Given the description of an element on the screen output the (x, y) to click on. 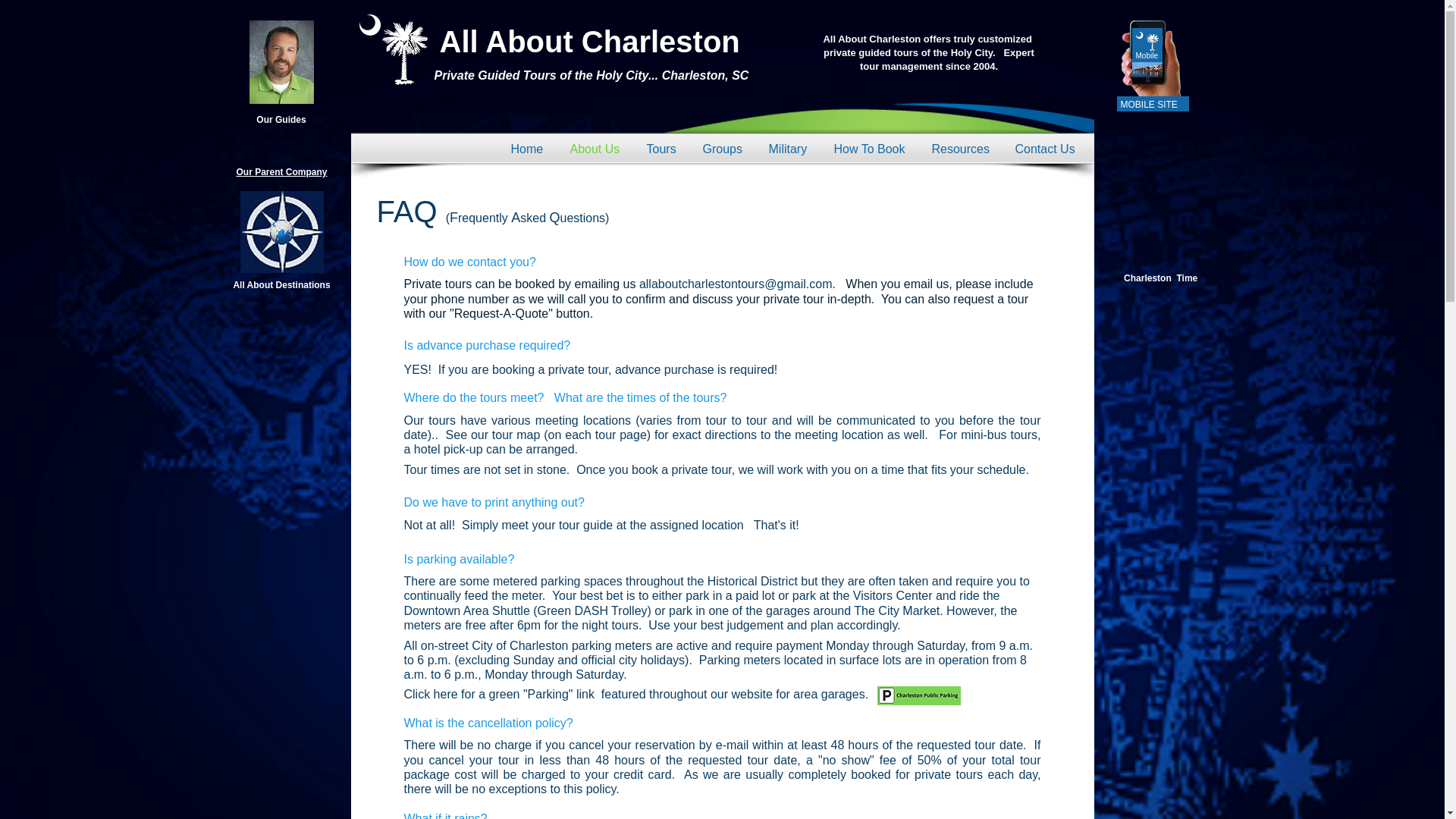
Tours (662, 148)
Home (528, 148)
Groups (724, 148)
Our Guides (280, 119)
All About Destinations (281, 285)
About Us (595, 148)
Resources (962, 148)
Military (789, 148)
How To Book (871, 148)
